Given the description of an element on the screen output the (x, y) to click on. 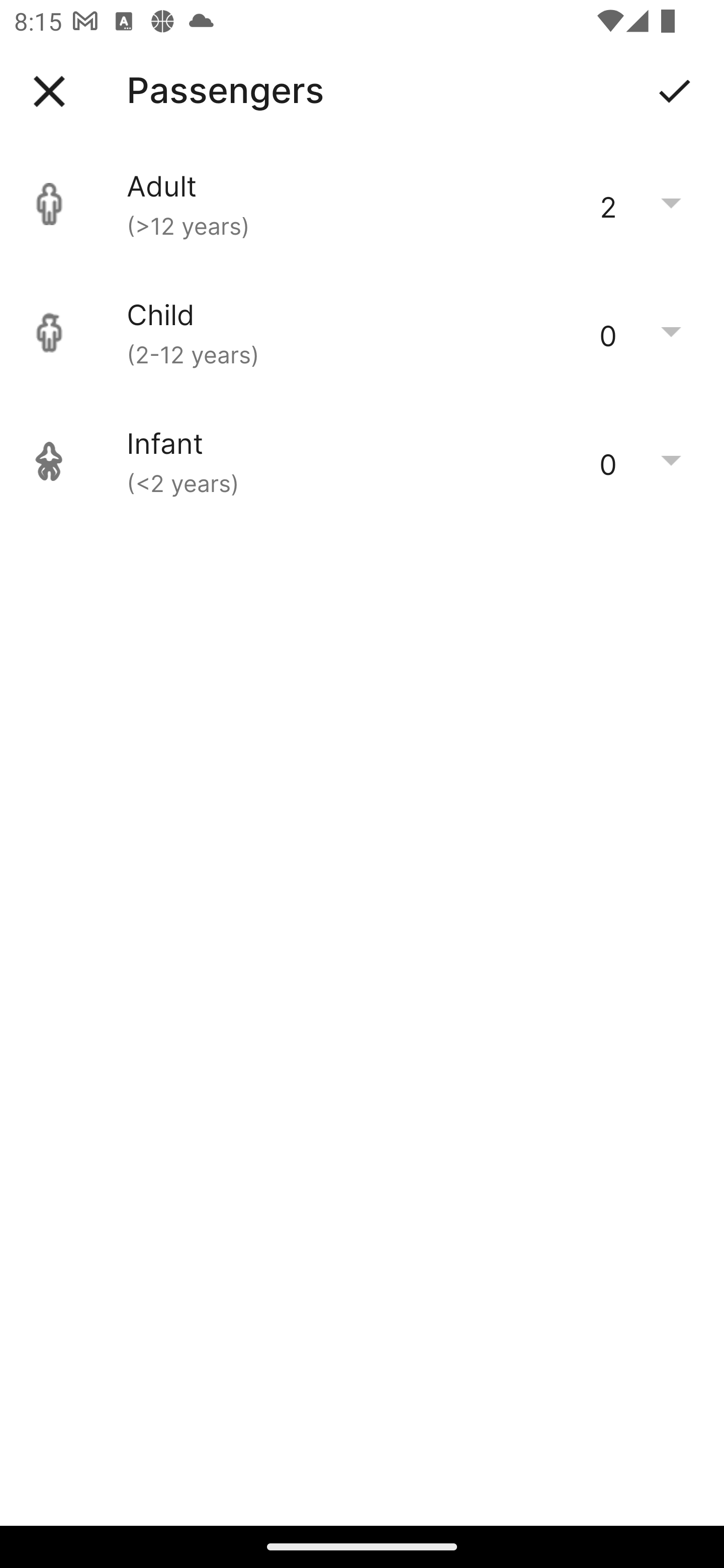
Adult (>12 years) 2 (362, 204)
Child (2-12 years) 0 (362, 332)
Infant (<2 years) 0 (362, 461)
